Given the description of an element on the screen output the (x, y) to click on. 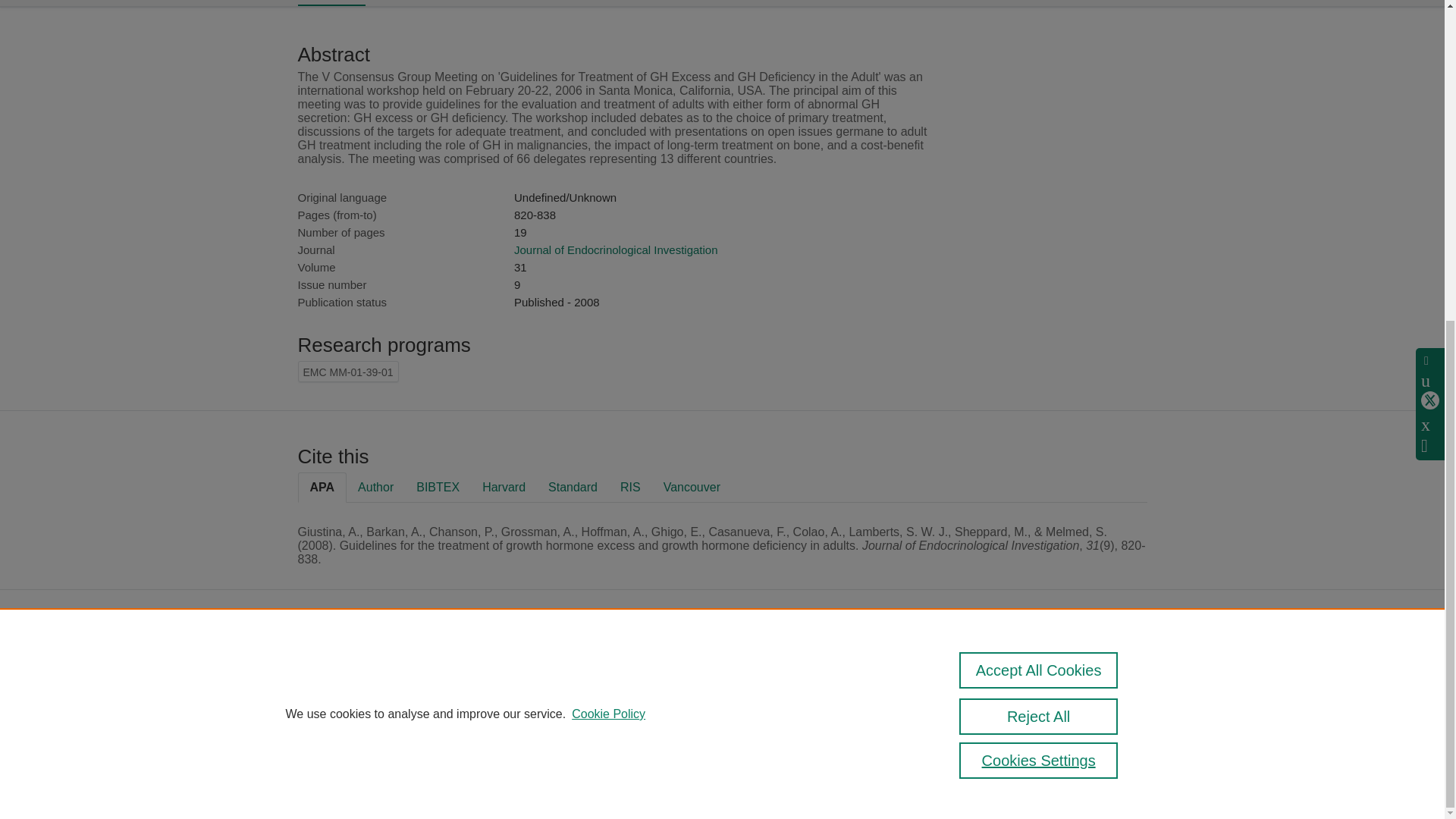
Reject All (1038, 197)
Scopus (652, 665)
Erasmus University Rotterdam data protection policy (1087, 676)
Cookies Settings (1038, 240)
use of cookies (614, 740)
Accept All Cookies (1038, 150)
Journal of Endocrinological Investigation (615, 249)
Elsevier B.V. (764, 685)
Overview (331, 2)
Cookie Policy (608, 194)
